Given the description of an element on the screen output the (x, y) to click on. 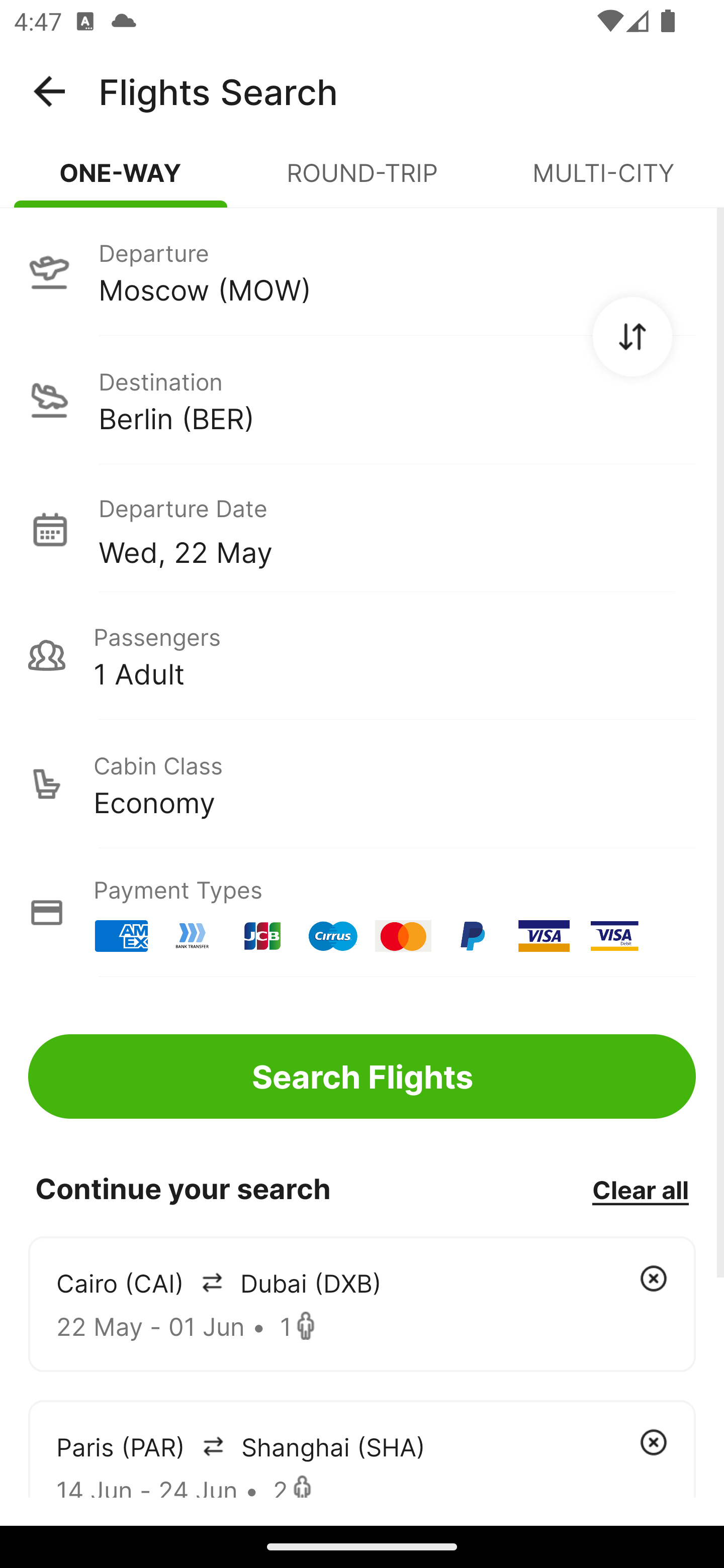
ONE-WAY (120, 180)
ROUND-TRIP (361, 180)
MULTI-CITY (603, 180)
Departure Moscow (MOW) (362, 270)
Destination Berlin (BER) (362, 400)
Departure Date Wed, 22 May (396, 528)
Passengers 1 Adult (362, 655)
Cabin Class Economy (362, 783)
Payment Types (362, 912)
Search Flights (361, 1075)
Clear all (640, 1189)
